Given the description of an element on the screen output the (x, y) to click on. 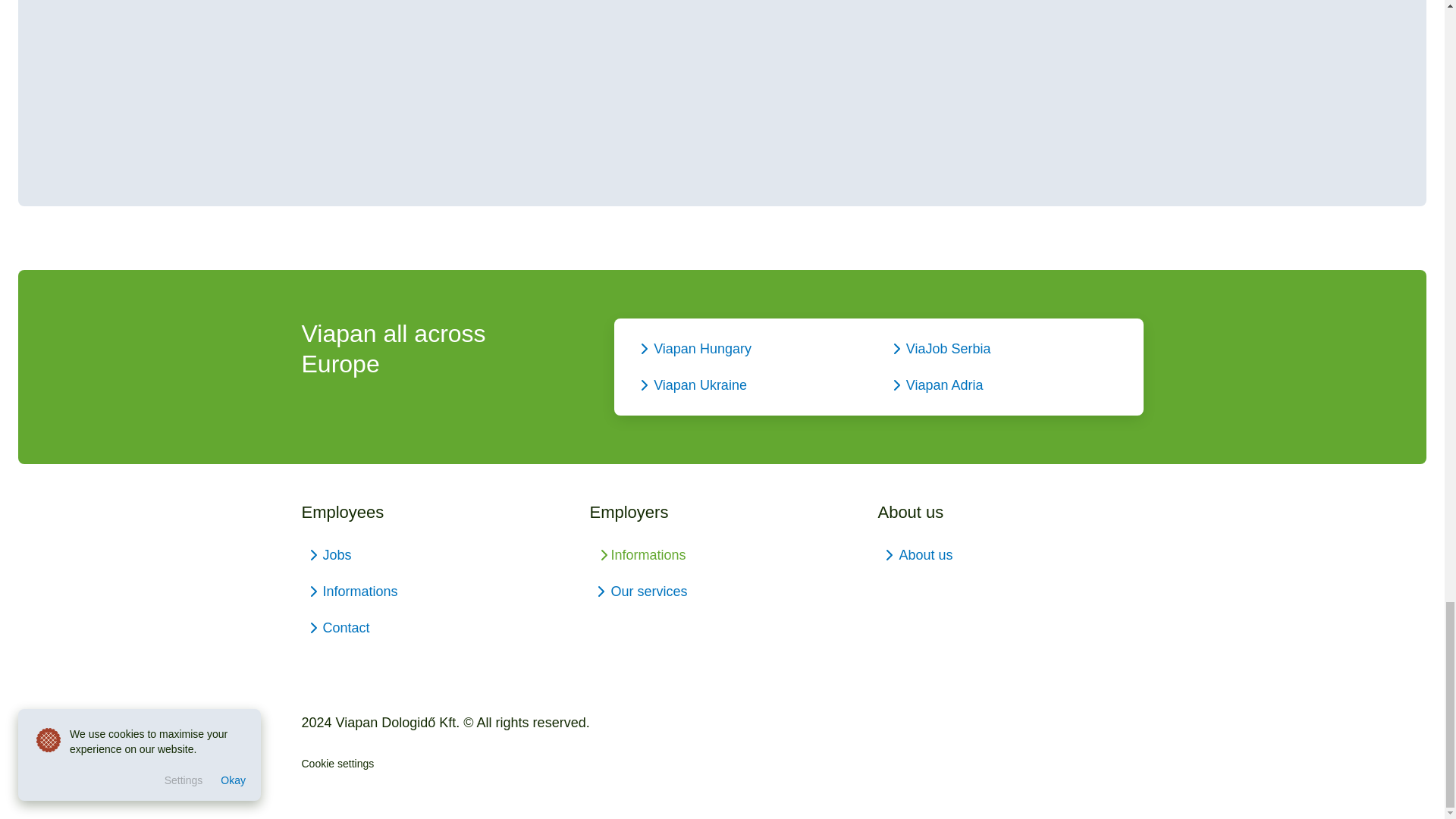
Our services (721, 591)
ViaJob Serbia (1005, 348)
Jobs (434, 554)
Contact (434, 627)
Informations (434, 591)
Viapan Ukraine (751, 385)
Viapan Hungary (751, 348)
Viapan Adria (1005, 385)
Informations (721, 554)
About us (1009, 554)
